Given the description of an element on the screen output the (x, y) to click on. 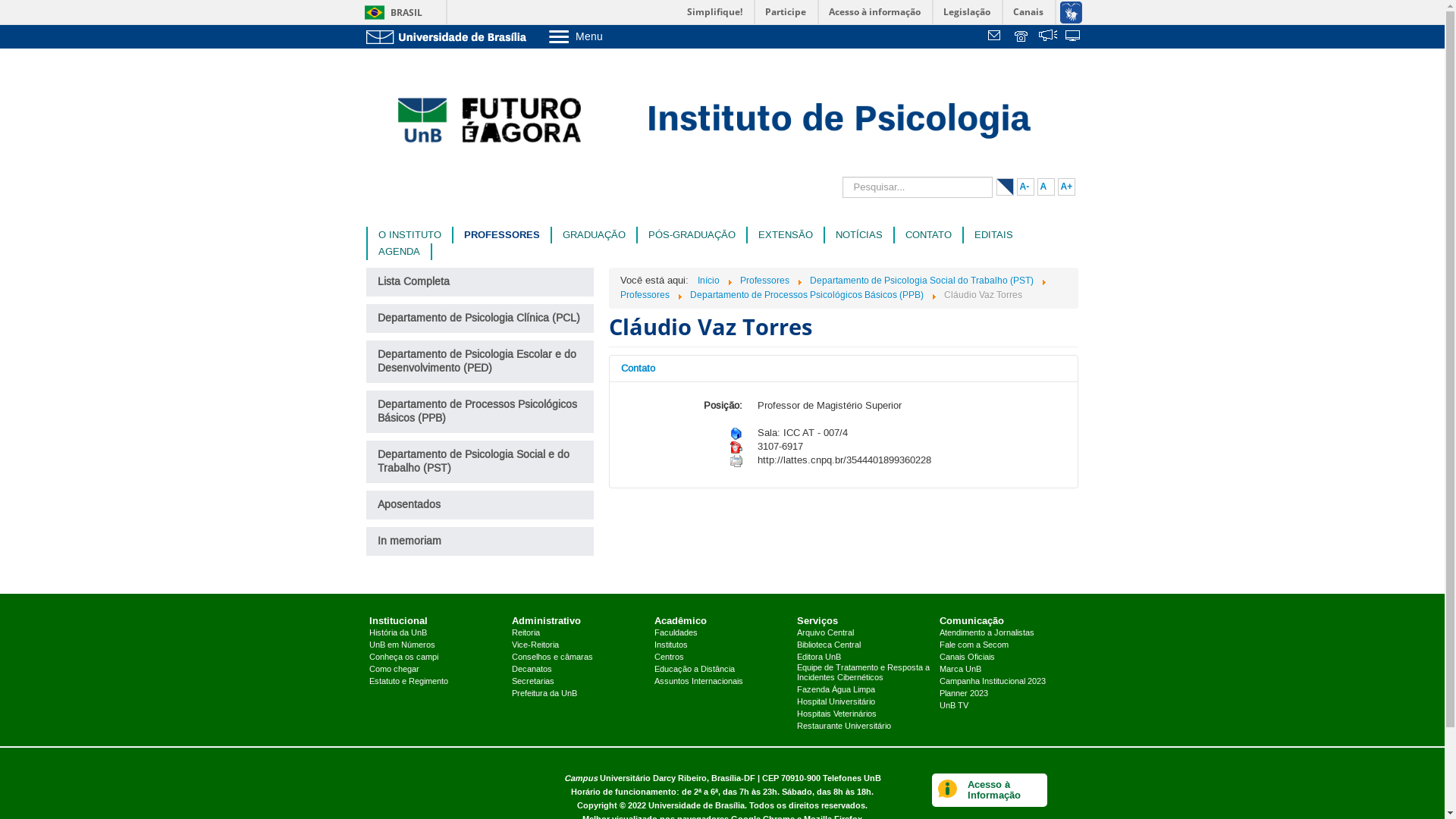
Telefones da UnB Element type: hover (1022, 37)
CONTATO Element type: text (928, 234)
Secretarias Element type: text (532, 681)
A+ Element type: text (1065, 186)
Assuntos Internacionais Element type: text (698, 681)
Centros Element type: text (669, 657)
Arquivo Central Element type: text (825, 632)
Professores Element type: text (764, 280)
  Element type: text (1047, 37)
BRASIL Element type: text (389, 12)
Editora UnB Element type: text (818, 657)
EDITAIS Element type: text (992, 234)
Biblioteca Central Element type: text (828, 644)
Telefones UnB Element type: text (851, 778)
Menu Element type: text (613, 35)
  Element type: text (1022, 37)
Departamento de Psicologia Social do Trabalho (PST) Element type: text (921, 280)
O INSTITUTO Element type: text (409, 234)
UnB TV Element type: text (953, 705)
A Element type: text (1045, 186)
Fala.BR Element type: hover (1047, 37)
Sistemas Element type: hover (1073, 37)
Vice-Reitoria Element type: text (534, 644)
Reitoria Element type: text (525, 632)
Canais Oficiais Element type: text (966, 657)
Fale com a Secom Element type: text (973, 644)
In memoriam Element type: text (479, 541)
Webmail Element type: hover (996, 37)
Professores Element type: text (644, 294)
A- Element type: text (1024, 186)
Contato Element type: text (843, 368)
PROFESSORES Element type: text (501, 234)
Como chegar Element type: text (394, 669)
AGENDA Element type: text (398, 251)
Lista Completa Element type: text (479, 281)
Prefeitura da UnB Element type: text (544, 693)
  Element type: text (996, 37)
Campanha Institucional 2023 Element type: text (992, 681)
Ir para o Portal da UnB Element type: hover (448, 36)
Aposentados Element type: text (479, 504)
Departamento de Psicologia Social e do Trabalho (PST) Element type: text (479, 461)
Planner 2023 Element type: text (963, 693)
Atendimento a Jornalistas Element type: text (986, 632)
Estatuto e Regimento Element type: text (408, 681)
Decanatos Element type: text (531, 669)
Institutos Element type: text (670, 644)
  Element type: text (1073, 37)
Faculdades Element type: text (675, 632)
Marca UnB Element type: text (960, 669)
